Given the description of an element on the screen output the (x, y) to click on. 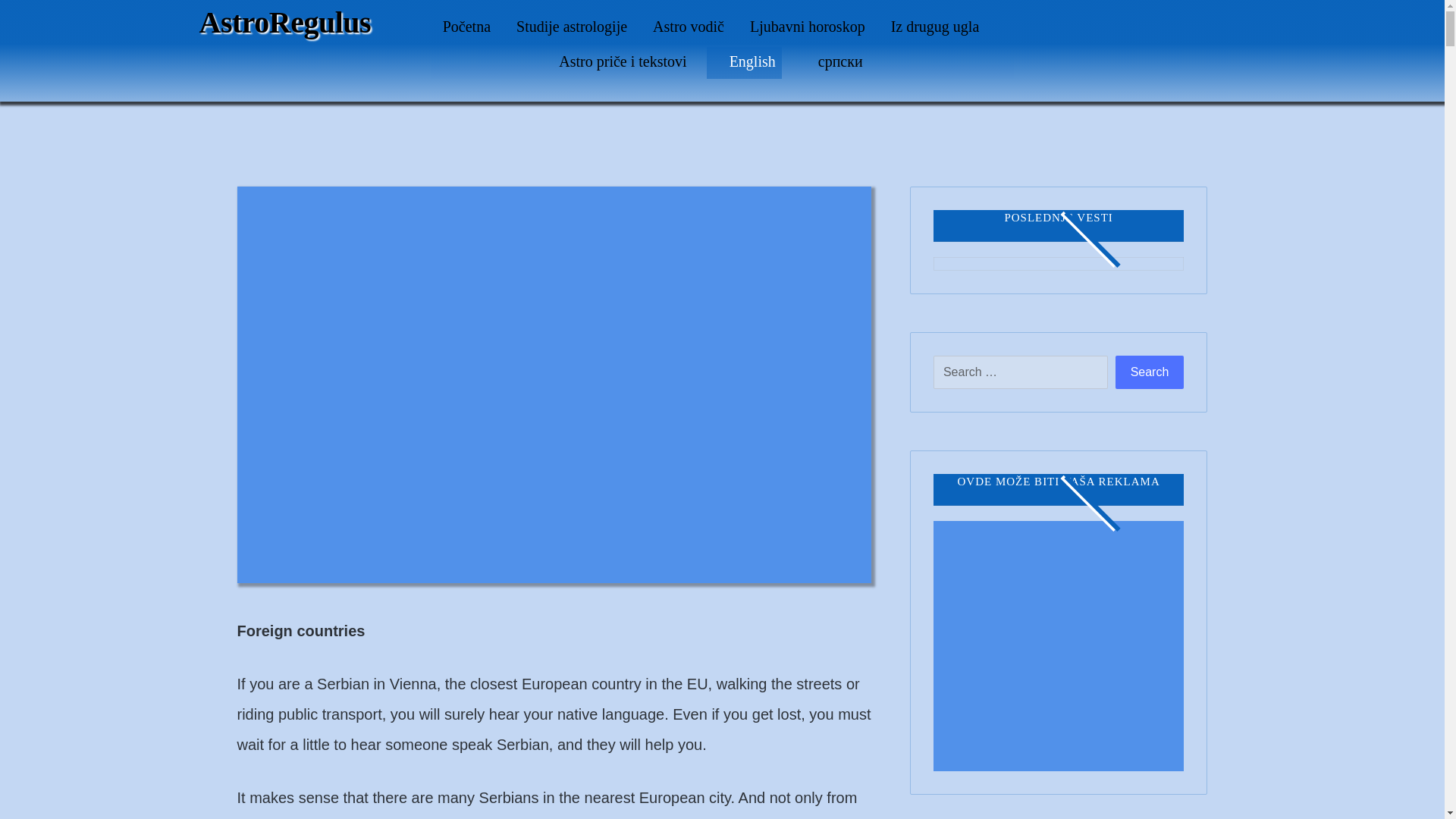
Search (1150, 372)
Ne postoje dve iste natalne karte, kao ni dve iste sudbine. (284, 22)
English (744, 61)
Studije astrologije (571, 26)
Ljubavni horoskop (806, 26)
AstroRegulus (284, 22)
Search (1150, 372)
English (744, 61)
Iz drugug ugla (935, 26)
